Given the description of an element on the screen output the (x, y) to click on. 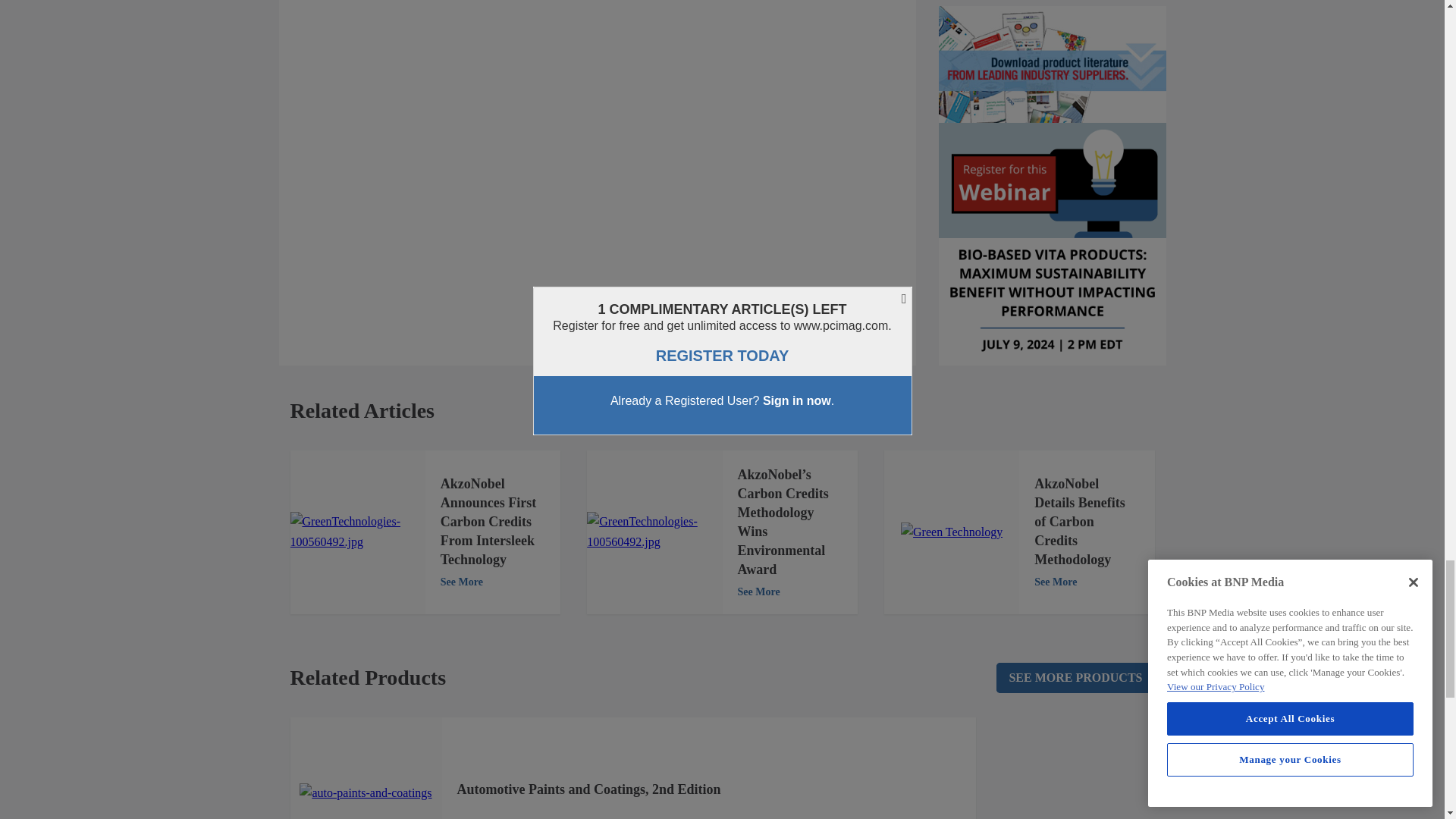
auto-paints-and-coatings (364, 792)
GreenTechnologies-100560492.jpg (357, 531)
Green Technology (952, 532)
GreenTechnologies-100560492.jpg (654, 531)
